Given the description of an element on the screen output the (x, y) to click on. 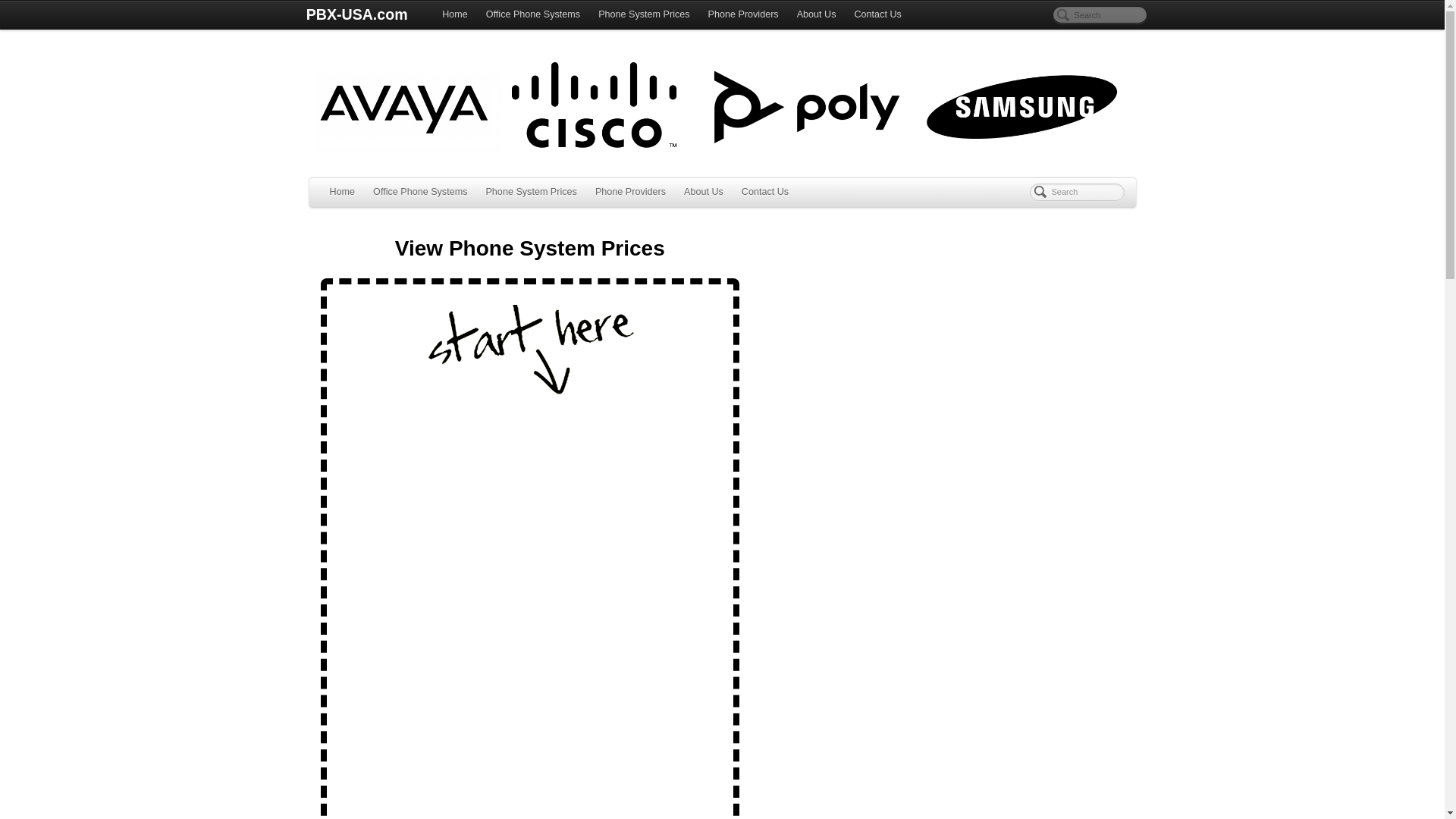
Office Phone Systems (533, 14)
Contact Us (877, 14)
Home (454, 14)
Phone System Prices (643, 14)
PBX-USA.com (355, 14)
Phone Providers (630, 192)
Contact Us (764, 192)
About Us (703, 192)
Phone System Prices (530, 192)
About Us (816, 14)
